Given the description of an element on the screen output the (x, y) to click on. 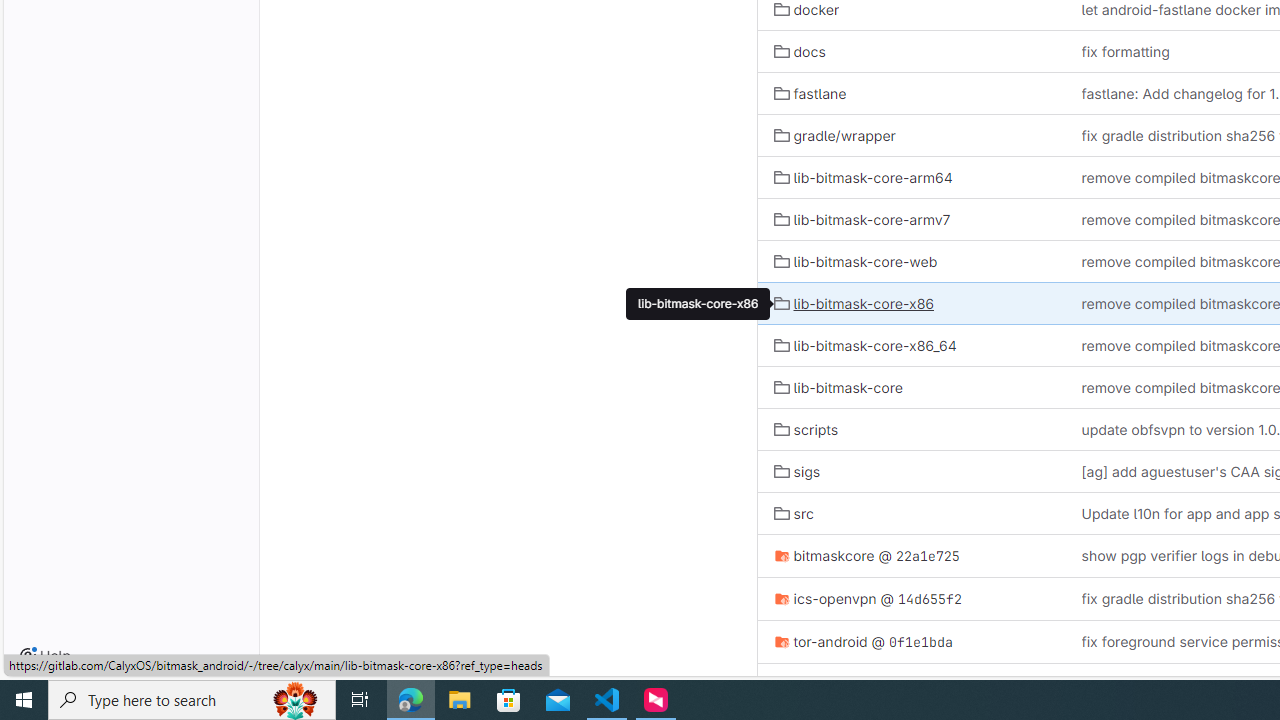
tor-android (820, 641)
lib-bitmask-core-web (911, 260)
tor-android @ 0f1e1bda (911, 641)
Class: s16 position-relative file-icon (781, 642)
scripts (911, 429)
14d655f2 (930, 598)
.gitignore (814, 683)
lib-bitmask-core-arm64 (863, 177)
docs (911, 51)
lib-bitmask-core-x86 (698, 303)
bitmaskcore (824, 555)
lib-bitmask-core-armv7 (862, 218)
lib-bitmask-core (837, 387)
gradle/wrapper (911, 134)
lib-bitmask-core-web (855, 261)
